Given the description of an element on the screen output the (x, y) to click on. 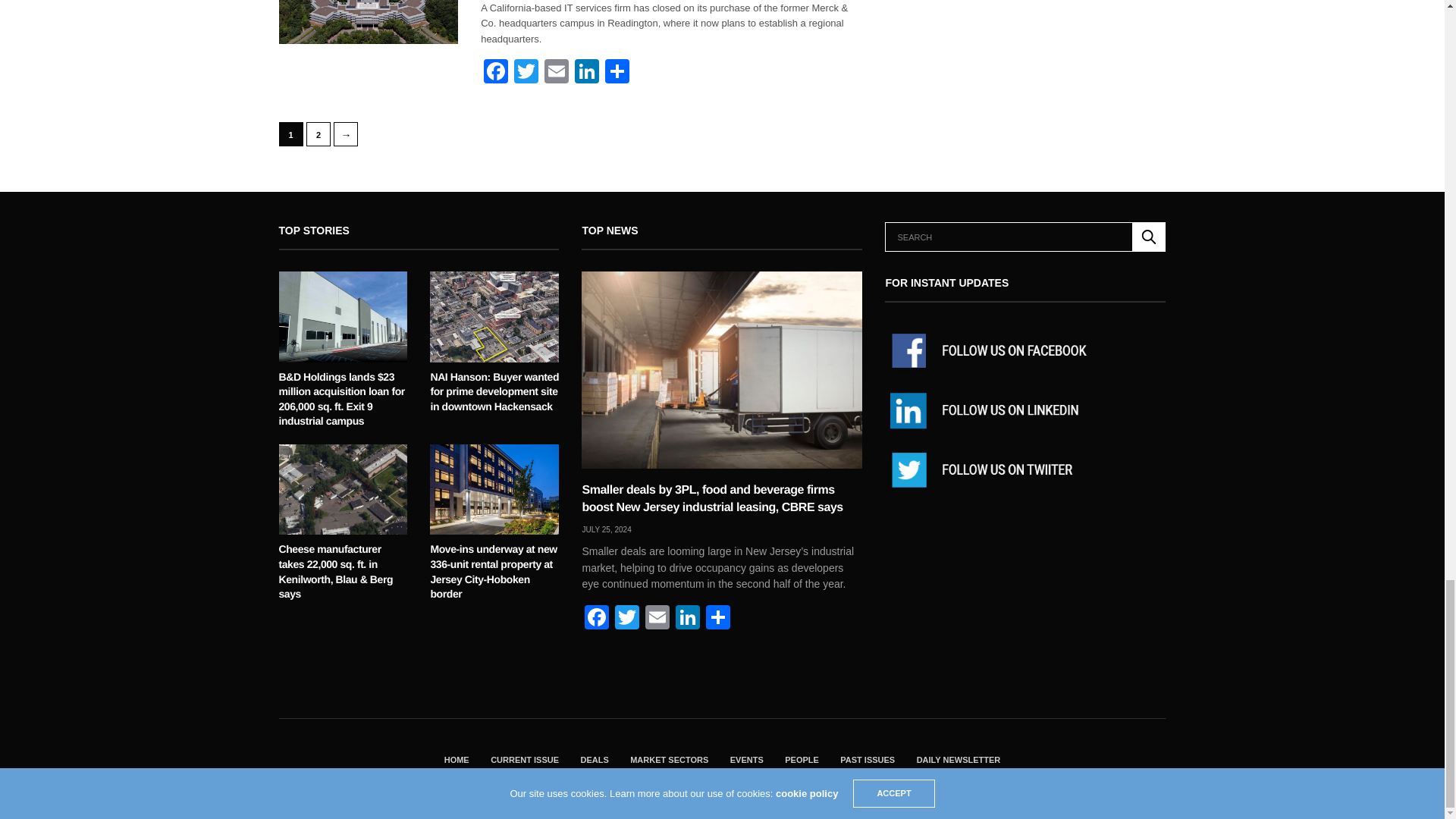
Search (1149, 236)
